Given the description of an element on the screen output the (x, y) to click on. 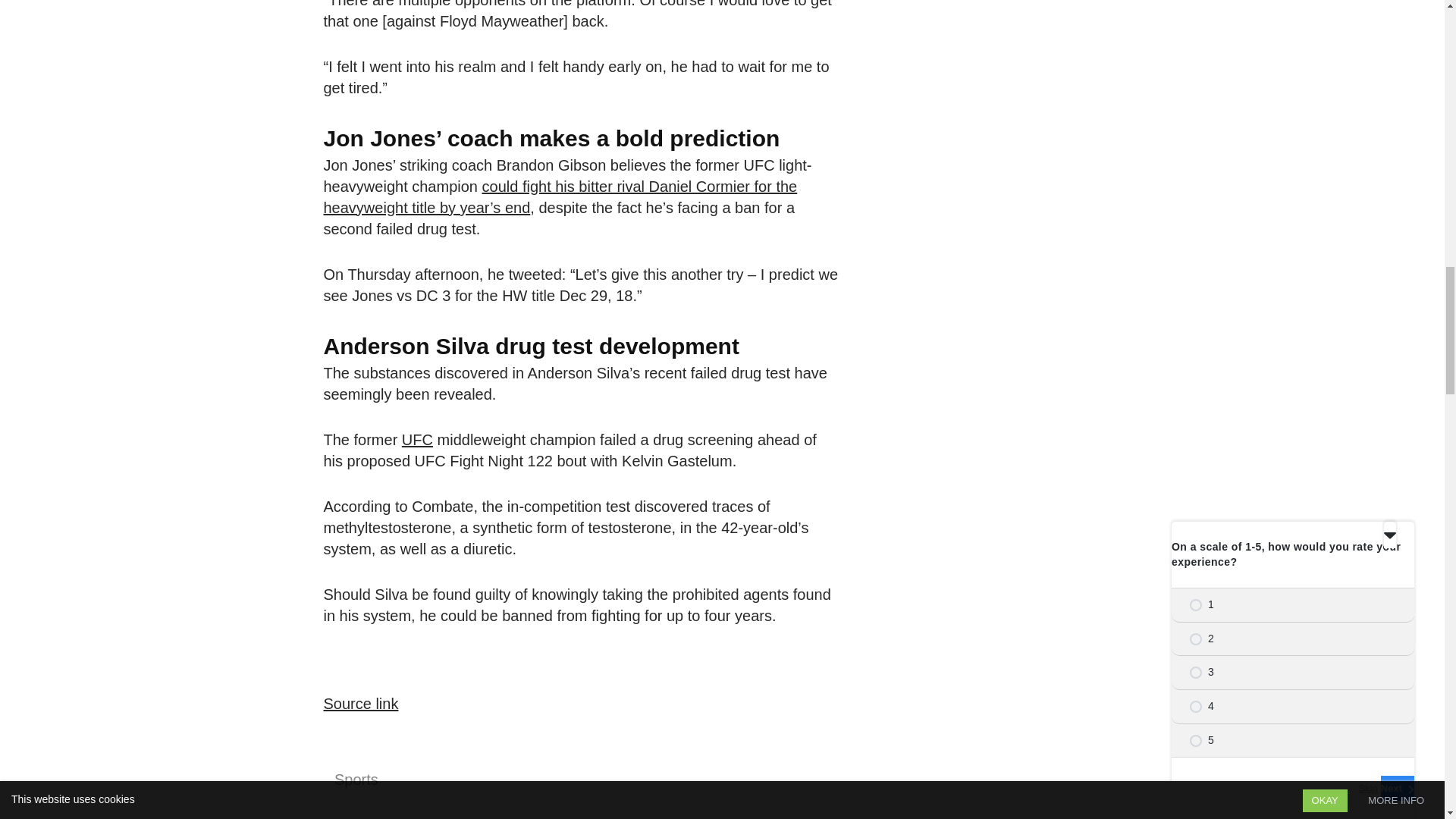
Source link (360, 703)
Sports (356, 779)
UFC (416, 439)
